Given the description of an element on the screen output the (x, y) to click on. 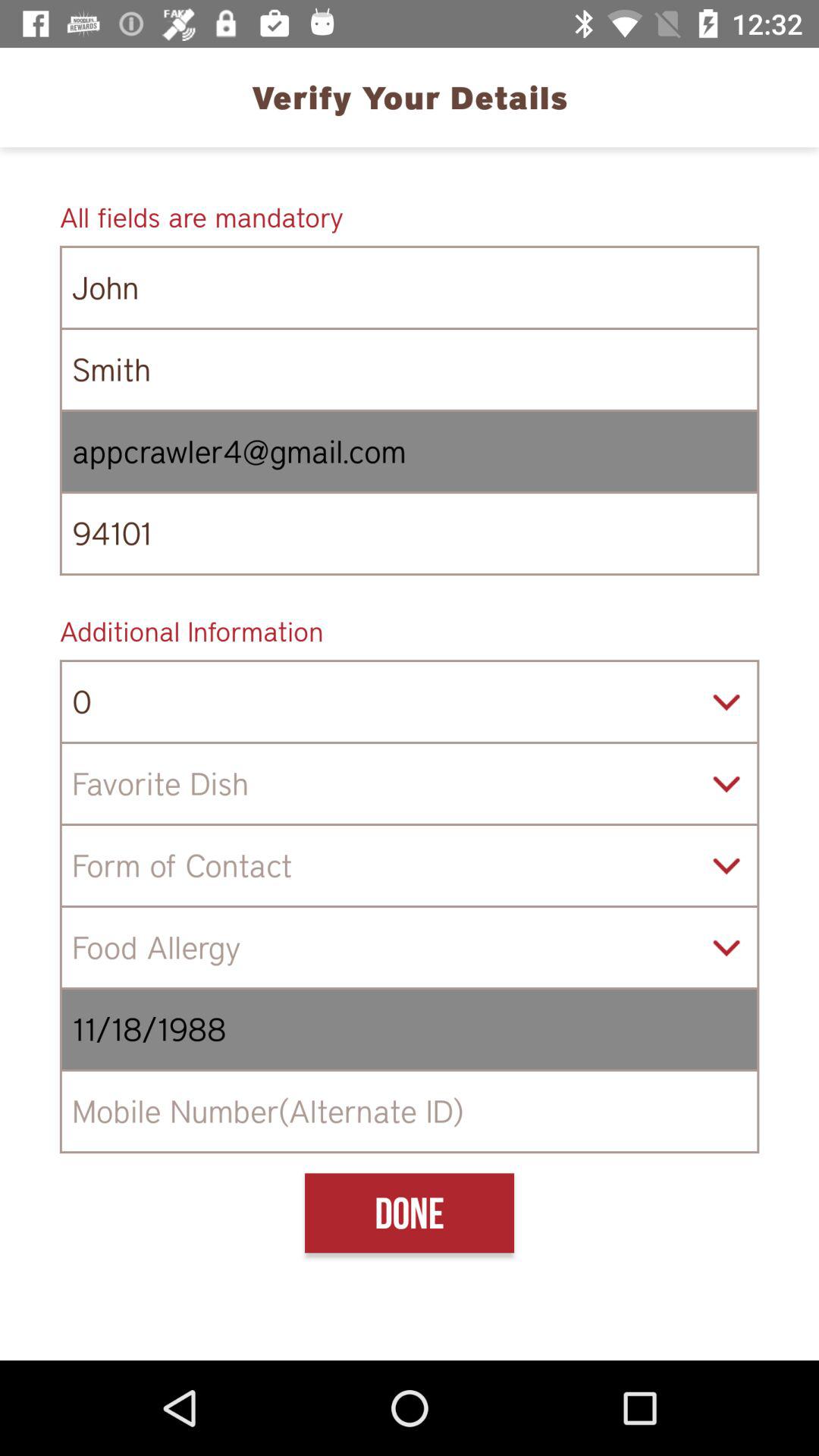
enter the mobile number (409, 1111)
